Given the description of an element on the screen output the (x, y) to click on. 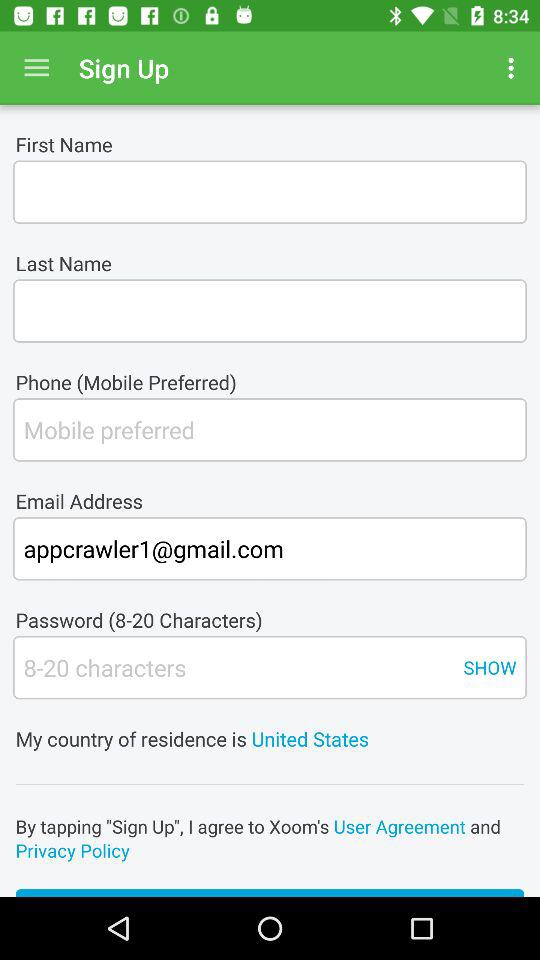
select the show icon (489, 667)
